Given the description of an element on the screen output the (x, y) to click on. 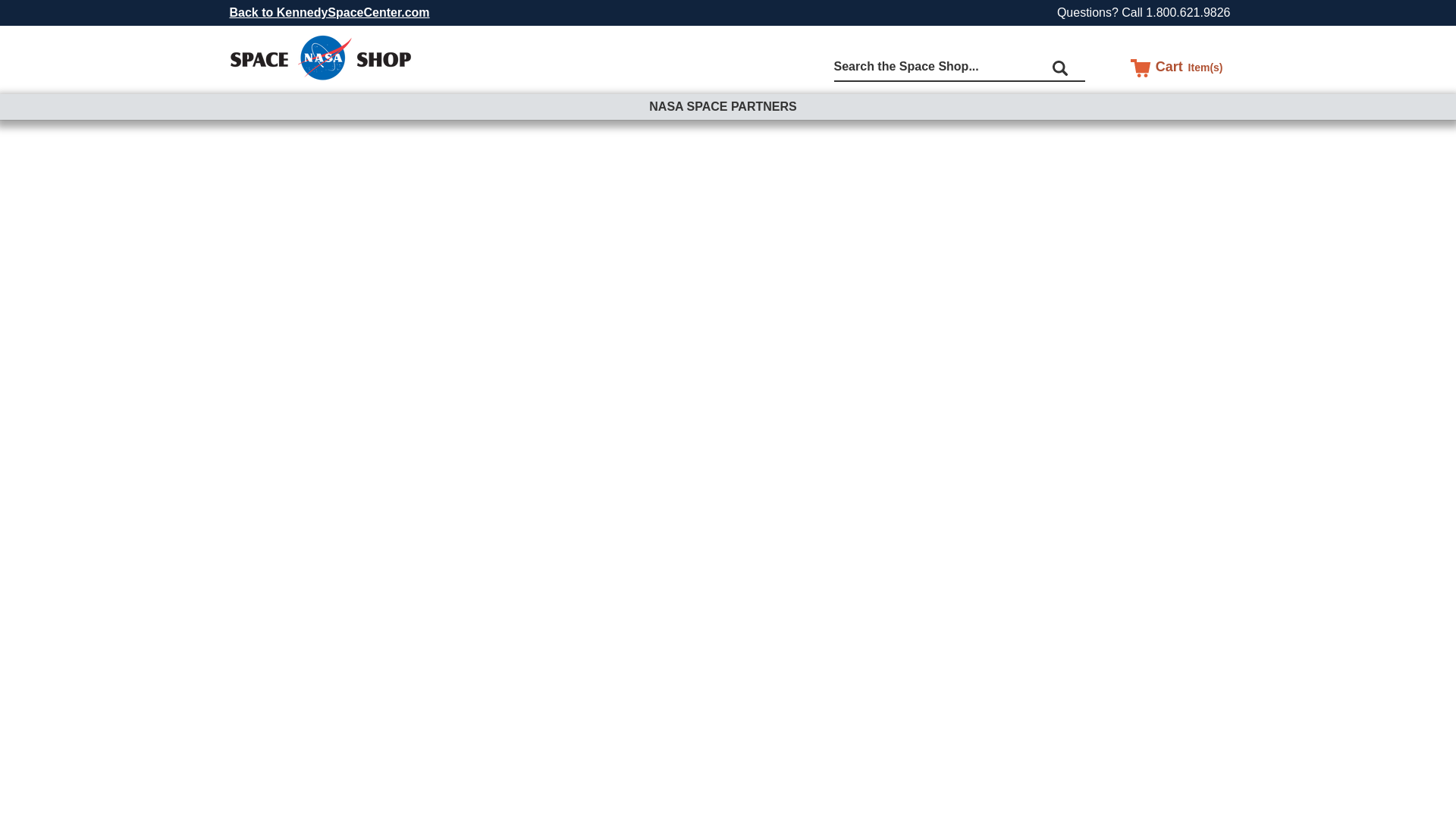
NASA SPACE PARTNERS (727, 106)
Kennedy Space Center Space Shop (319, 57)
Back to KennedySpaceCenter.com (327, 11)
